Given the description of an element on the screen output the (x, y) to click on. 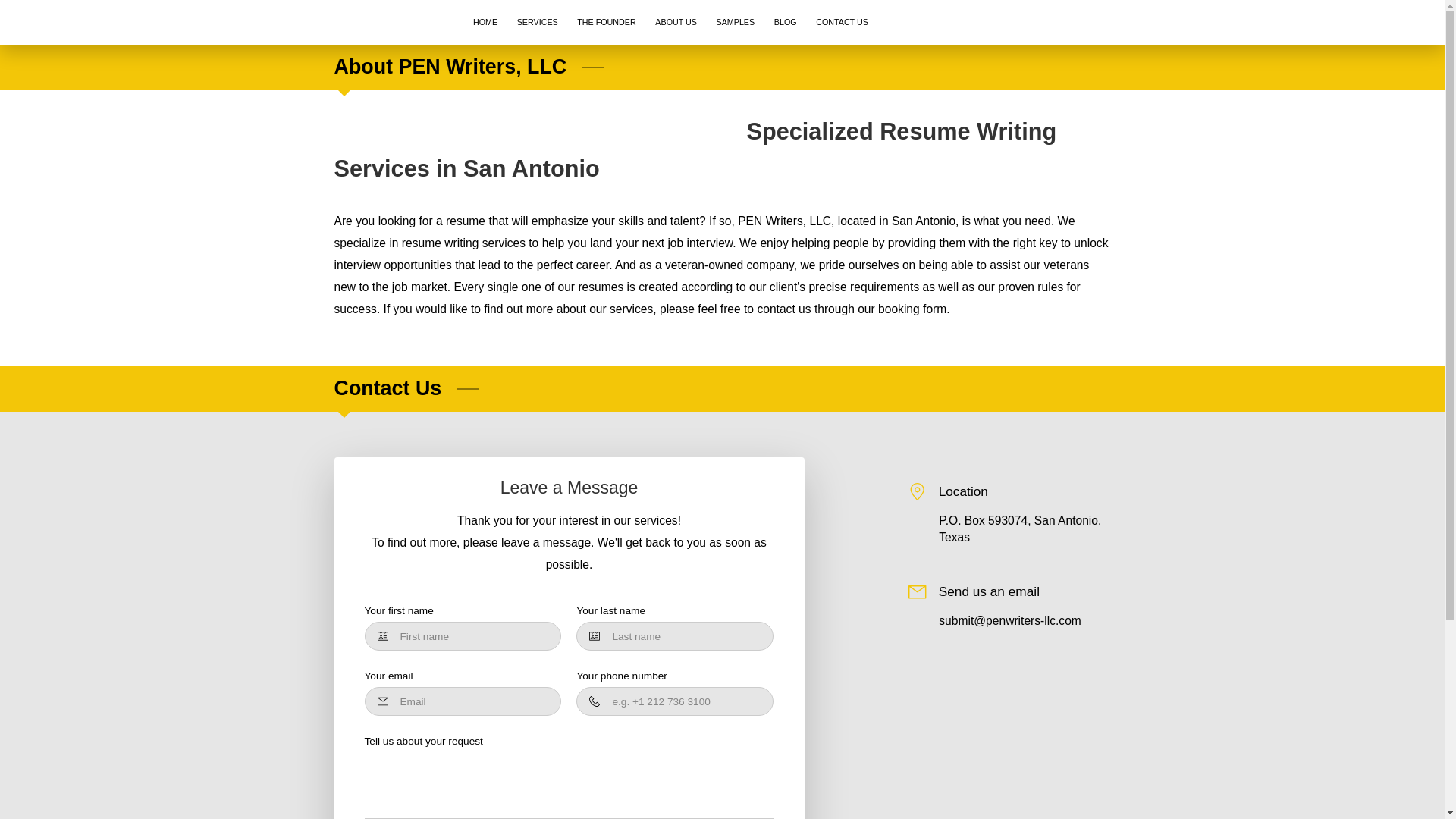
HOME (484, 21)
THE FOUNDER (606, 21)
SERVICES (536, 21)
CONTACT US (841, 21)
BLOG (785, 21)
ABOUT US (676, 21)
P.O. Box 593074, San Antonio, Texas (1024, 528)
SAMPLES (735, 21)
